Given the description of an element on the screen output the (x, y) to click on. 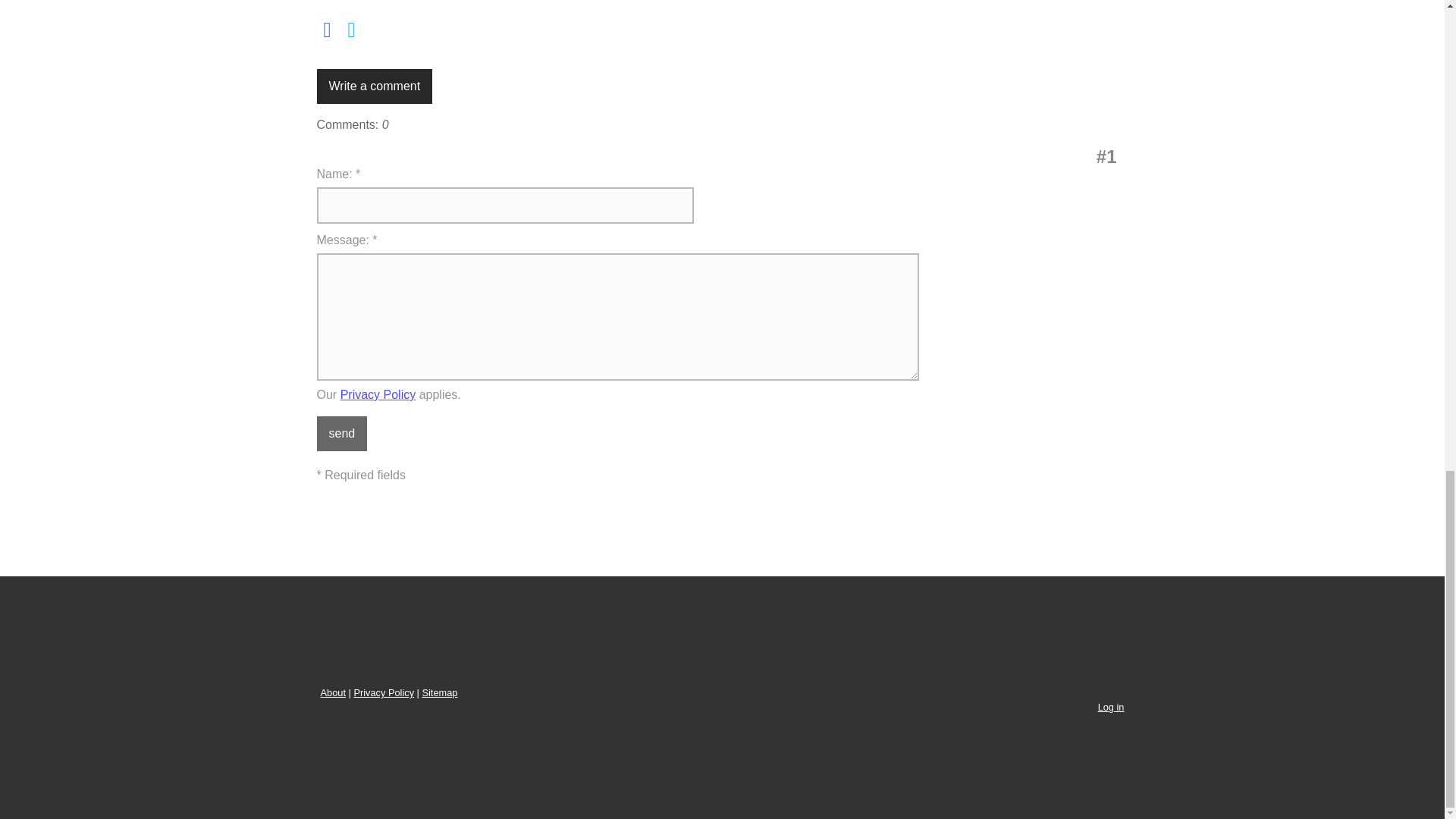
Sitemap (439, 692)
send (342, 433)
Log in (1110, 706)
Privacy Policy (378, 394)
Twitter (351, 29)
About (332, 692)
Facebook (327, 29)
Privacy Policy (383, 692)
send (342, 433)
Write a comment (374, 86)
